Given the description of an element on the screen output the (x, y) to click on. 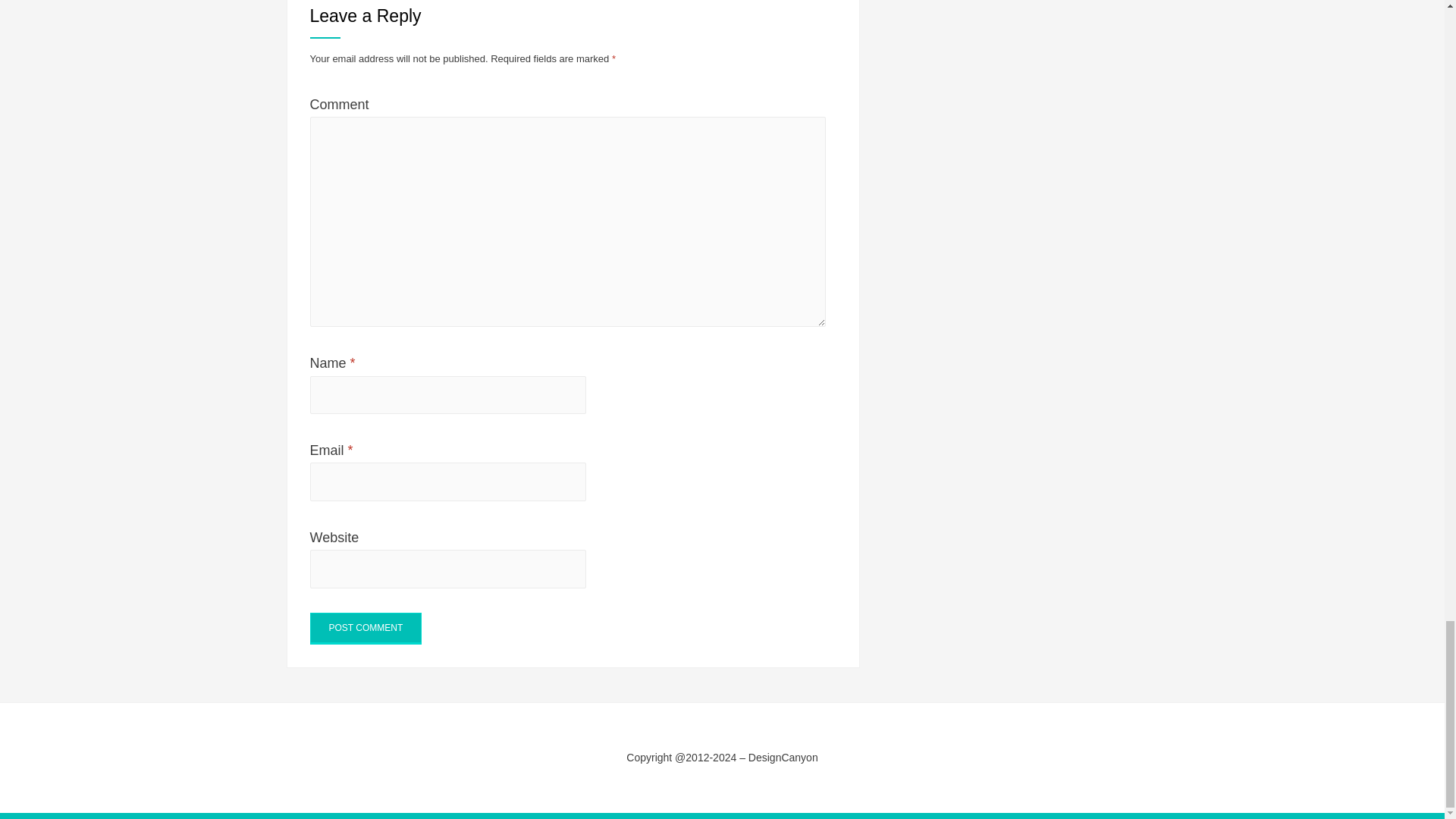
Post Comment (365, 628)
Magazine WordPress Themes (347, 778)
Post Comment (365, 628)
DesignCanyon (783, 757)
